Given the description of an element on the screen output the (x, y) to click on. 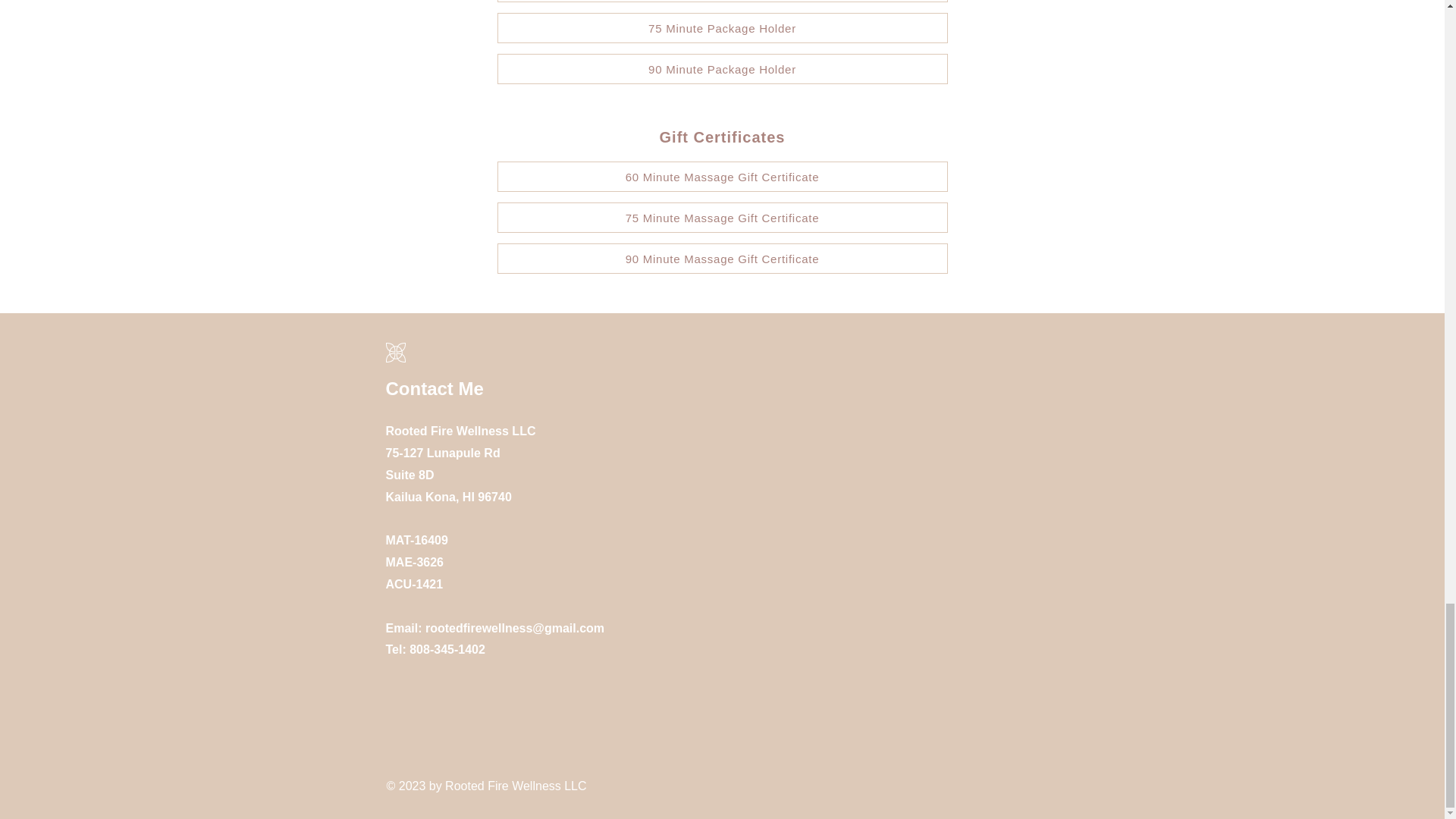
90 Minute Massage Gift Certificate (722, 258)
90 Minute Package Holder (722, 69)
75 Minute Massage Gift Certificate (722, 217)
60 Minute Massage Gift Certificate (722, 176)
75 Minute Package Holder (722, 28)
